Given the description of an element on the screen output the (x, y) to click on. 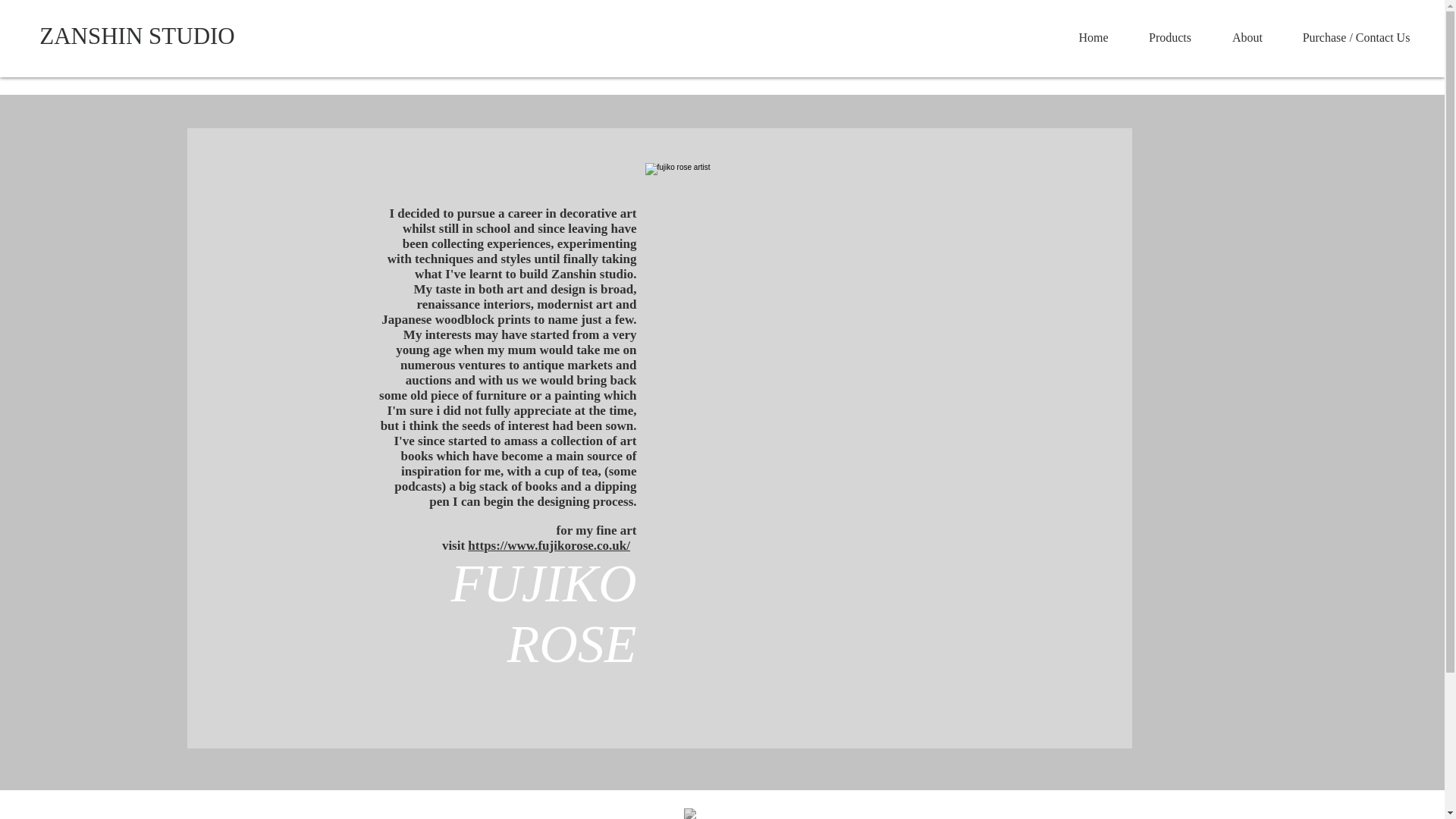
About (1246, 37)
Products (1169, 37)
ZANSHIN STUDIO (137, 35)
ZANSHIN STUDIO LOGO (722, 813)
Home (1093, 37)
